Given the description of an element on the screen output the (x, y) to click on. 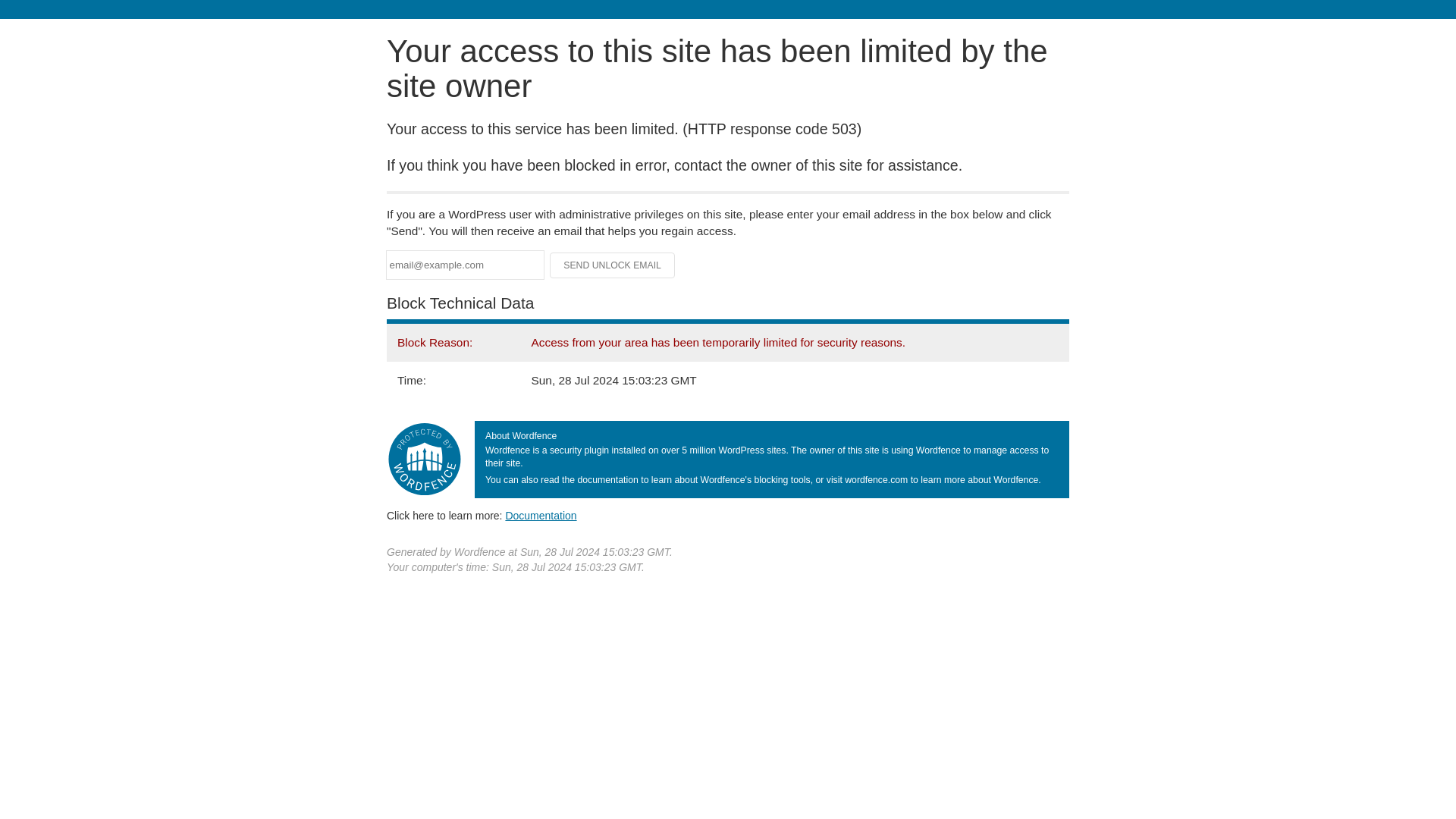
Send Unlock Email (612, 265)
Documentation (540, 515)
Send Unlock Email (612, 265)
